Given the description of an element on the screen output the (x, y) to click on. 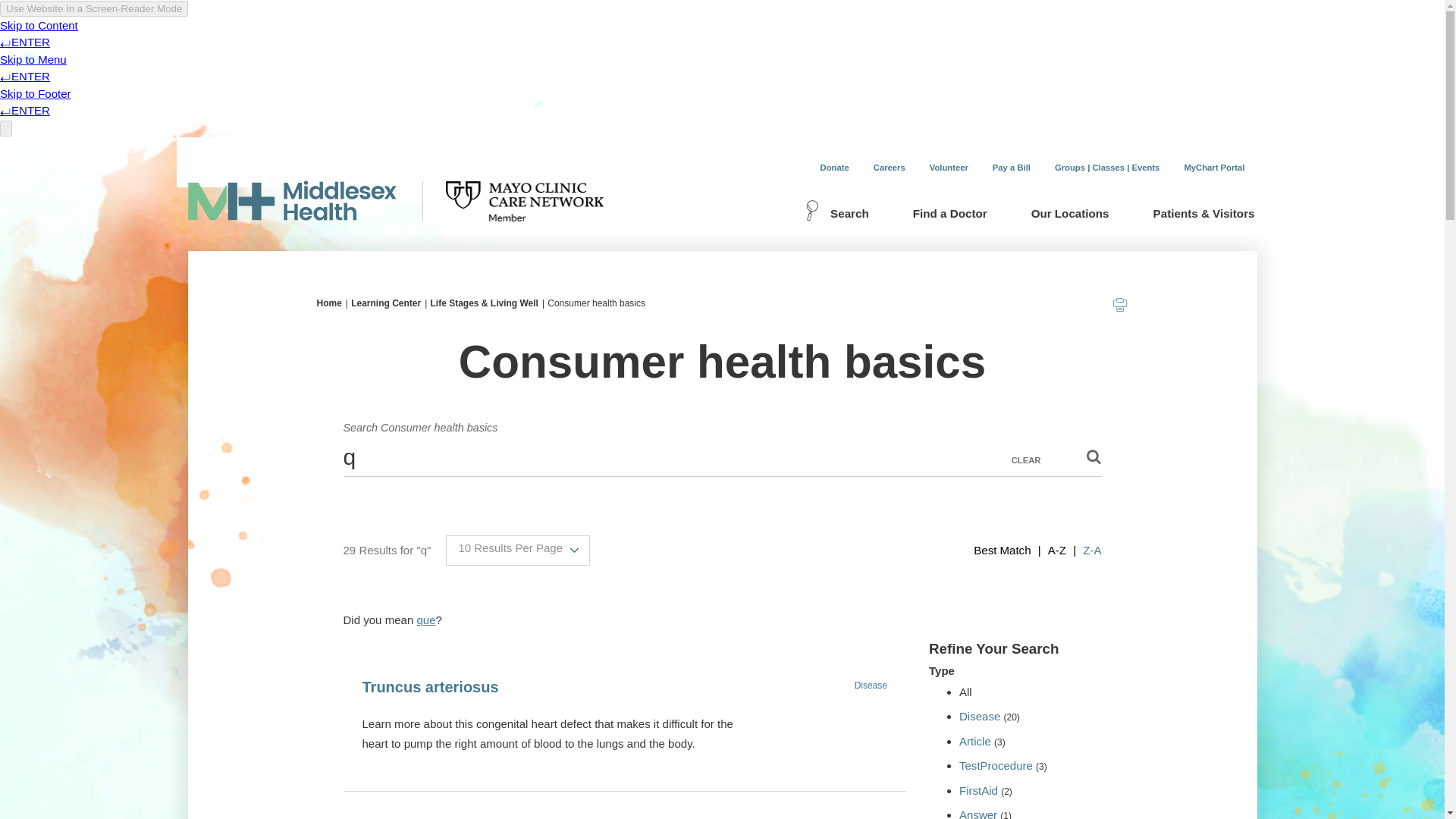
q (721, 457)
Donate (834, 166)
Volunteer (948, 166)
Search (840, 214)
MyChart Portal (1214, 166)
Our Locations (1070, 214)
Careers (889, 166)
Pay a Bill (1010, 166)
Find a Doctor (950, 214)
